Given the description of an element on the screen output the (x, y) to click on. 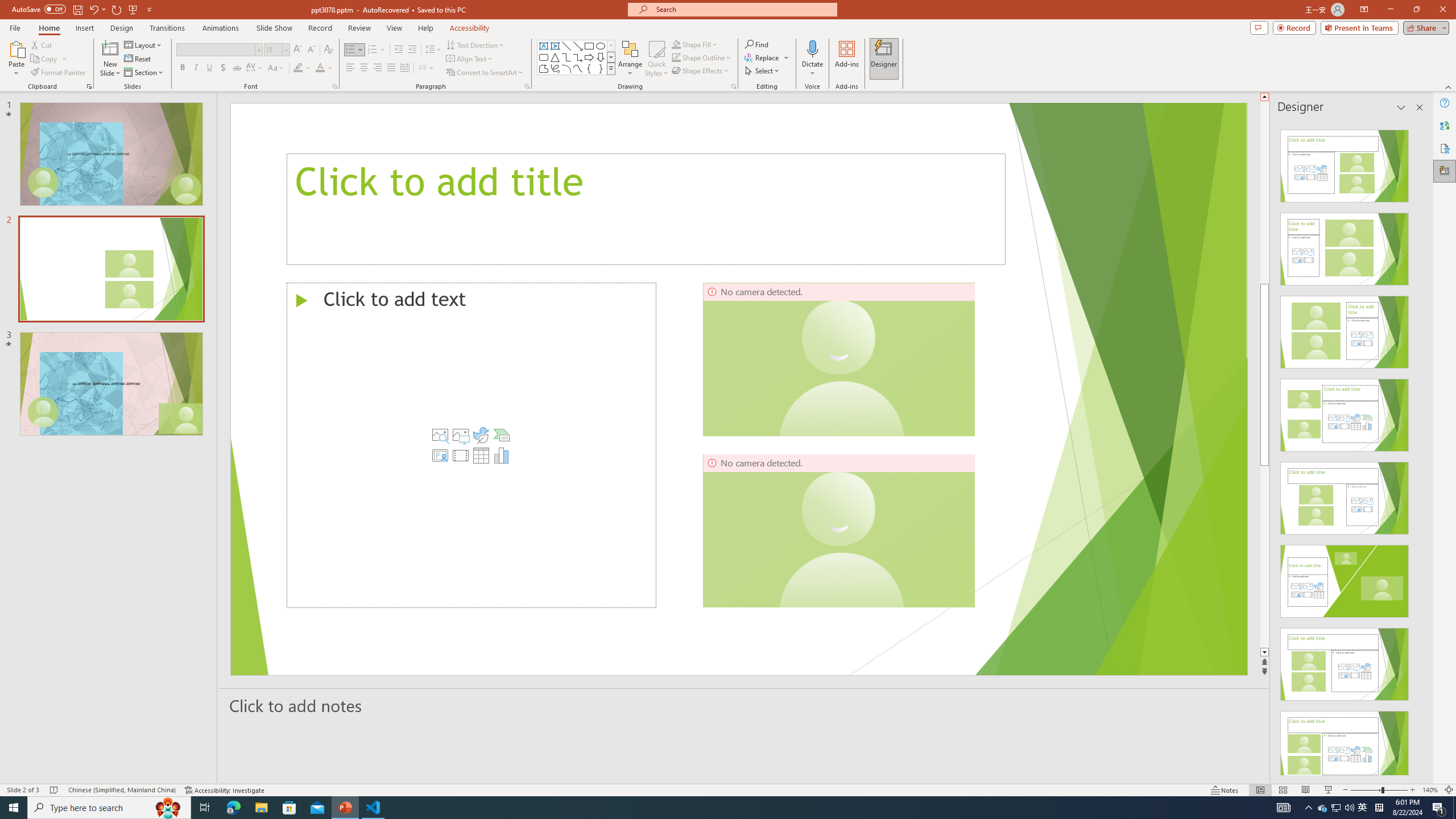
Title TextBox (646, 209)
AutomationID: ShapesInsertGallery (576, 57)
Curve (577, 68)
Office Clipboard... (88, 85)
Shape Outline Green, Accent 1 (675, 56)
Zoom 140% (1430, 790)
Line down (1264, 652)
Center (363, 67)
